Given the description of an element on the screen output the (x, y) to click on. 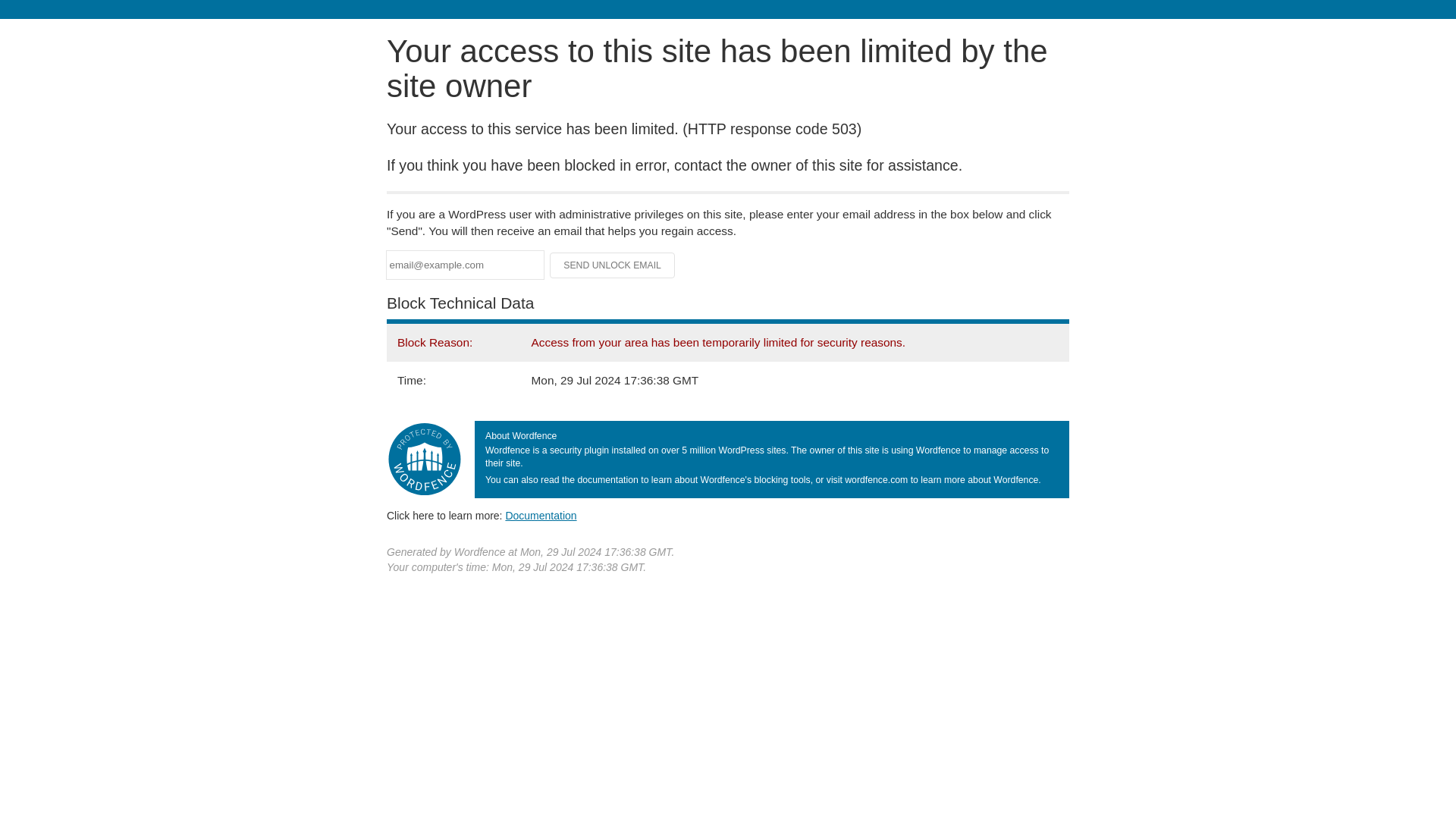
Documentation (540, 515)
Send Unlock Email (612, 265)
Send Unlock Email (612, 265)
